Given the description of an element on the screen output the (x, y) to click on. 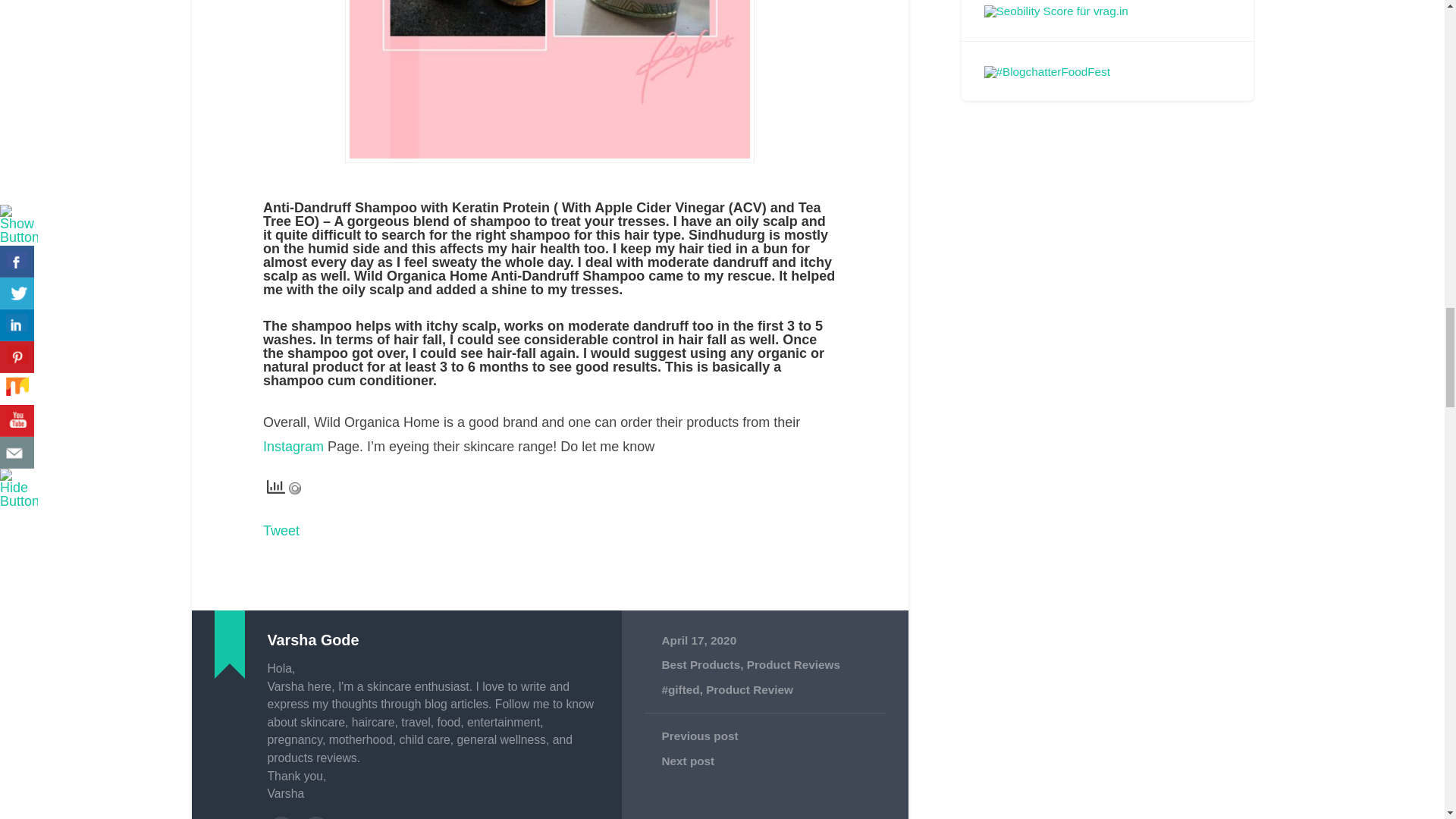
Author website (316, 817)
Tweet (281, 530)
Instagram (295, 446)
Next post (765, 761)
Best Products (700, 664)
Author archive (280, 817)
Product Reviews (793, 664)
Previous post (765, 735)
Product Review (749, 689)
